Given the description of an element on the screen output the (x, y) to click on. 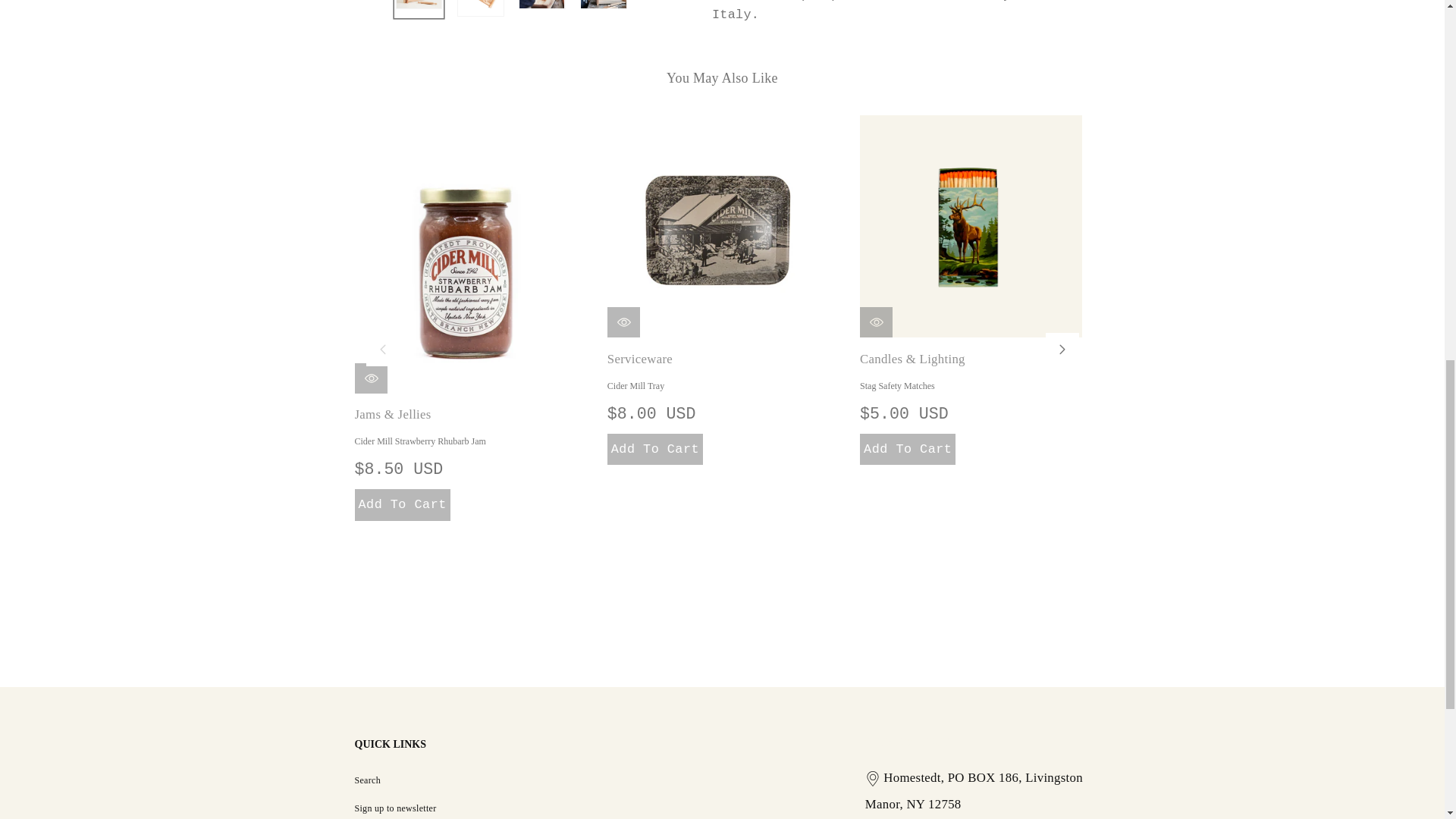
Cider Mill Strawberry Rhubarb Jam (465, 254)
Cider Mill Tray (718, 226)
Stag Safety Matches (970, 226)
Ranger Station Roll on Fragrance no (1223, 226)
